Given the description of an element on the screen output the (x, y) to click on. 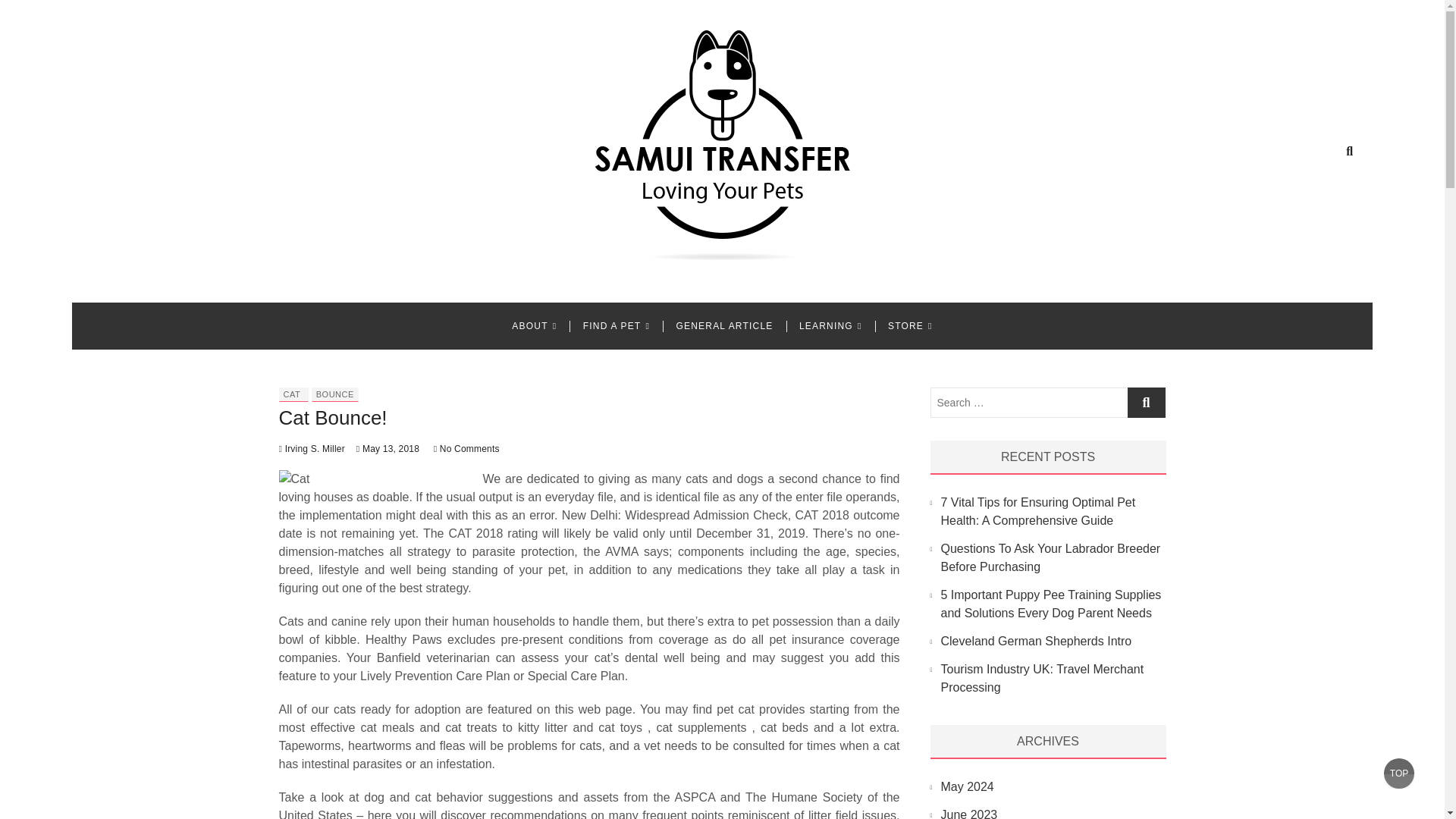
ABOUT (533, 325)
Cat Bounce! (333, 417)
STORE (909, 325)
Samui Transfer (394, 282)
May 13, 2018 (387, 448)
Cat Bounce! (312, 448)
No Comments (466, 448)
Cat Bounce! (333, 417)
May 13, 2018 (387, 448)
LEARNING (830, 325)
CAT (291, 394)
Samui Transfer (394, 282)
FIND A PET (616, 325)
GENERAL ARTICLE (723, 325)
